Given the description of an element on the screen output the (x, y) to click on. 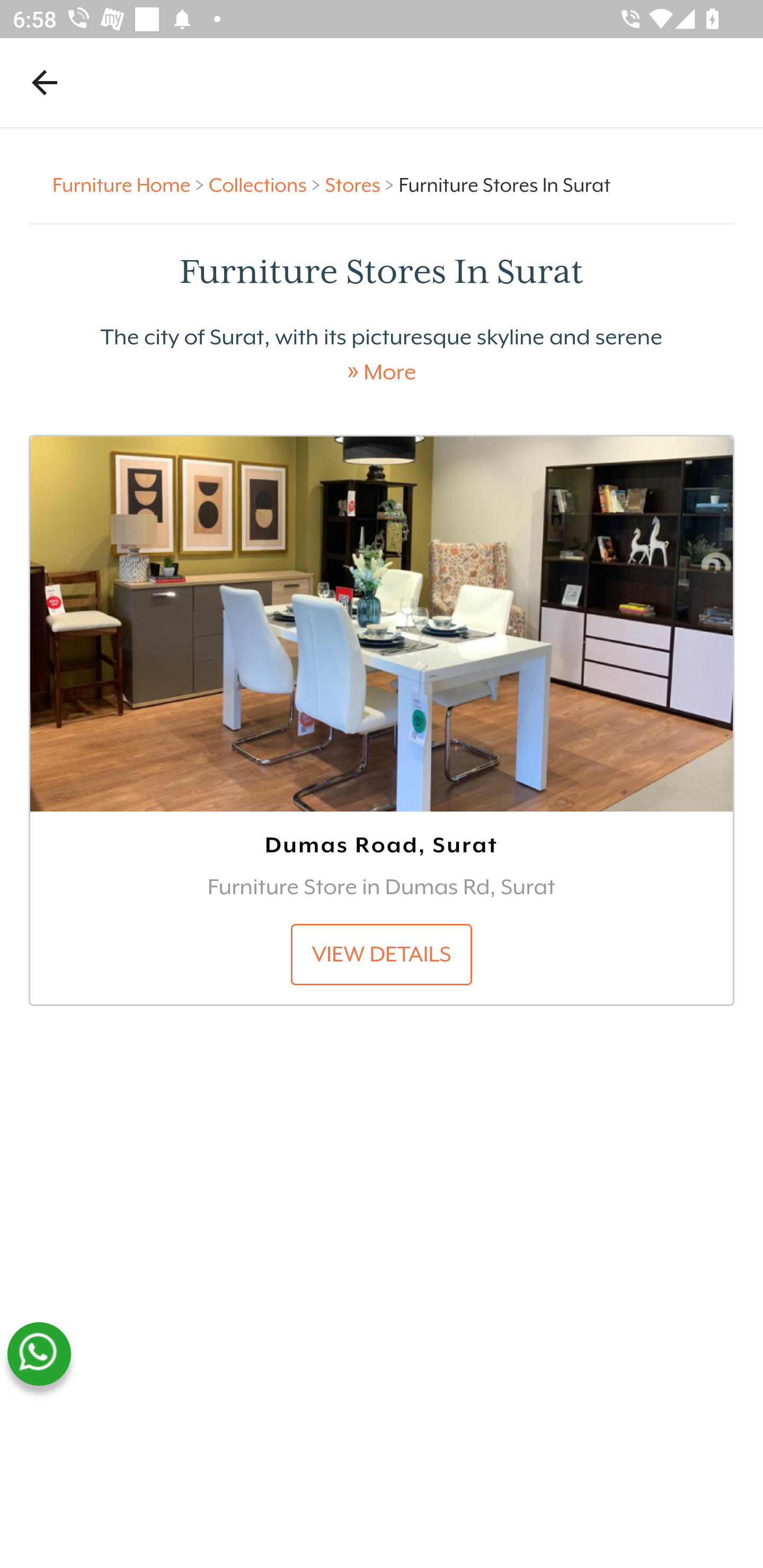
Navigate up (44, 82)
Furniture Home >  Furniture Home  >  (130, 184)
Collections >  Collections  >  (266, 184)
Stores >  Stores  >  (361, 184)
» More (381, 372)
VIEW DETAILS (381, 953)
whatsapp (38, 1353)
